Given the description of an element on the screen output the (x, y) to click on. 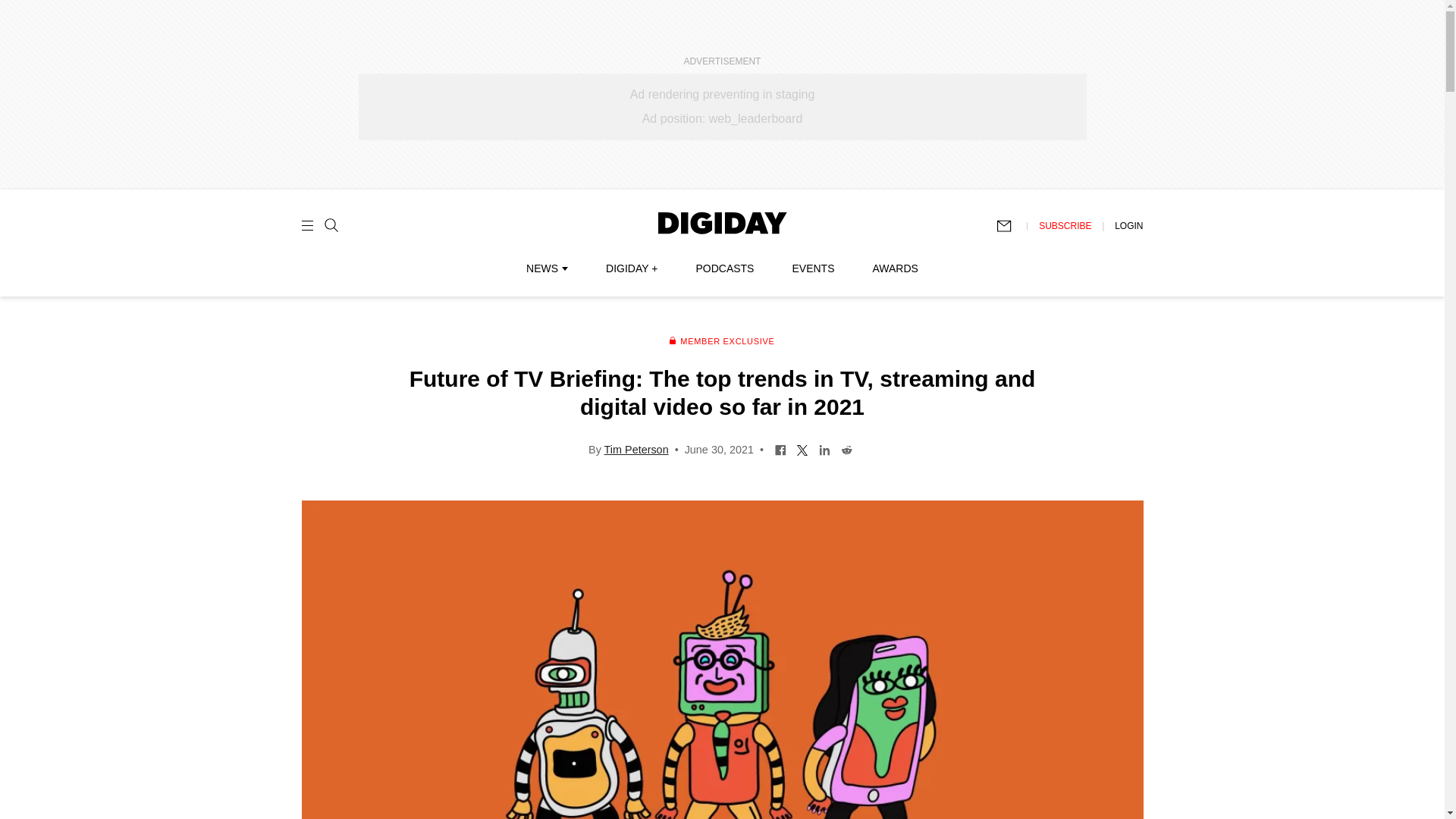
AWARDS (894, 267)
SUBSCRIBE (1064, 225)
Share on Twitter (802, 449)
Share on Facebook (780, 449)
PODCASTS (725, 267)
Share on LinkedIn (824, 449)
Subscribe (1010, 225)
EVENTS (813, 267)
Share on Reddit (846, 449)
NEWS (546, 267)
LOGIN (1128, 225)
